Given the description of an element on the screen output the (x, y) to click on. 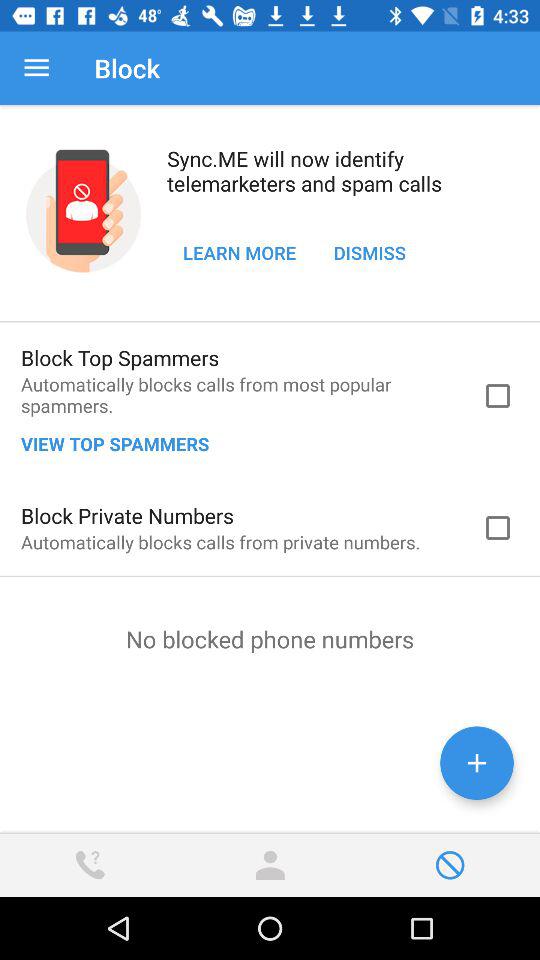
launch item at the top right corner (369, 252)
